Given the description of an element on the screen output the (x, y) to click on. 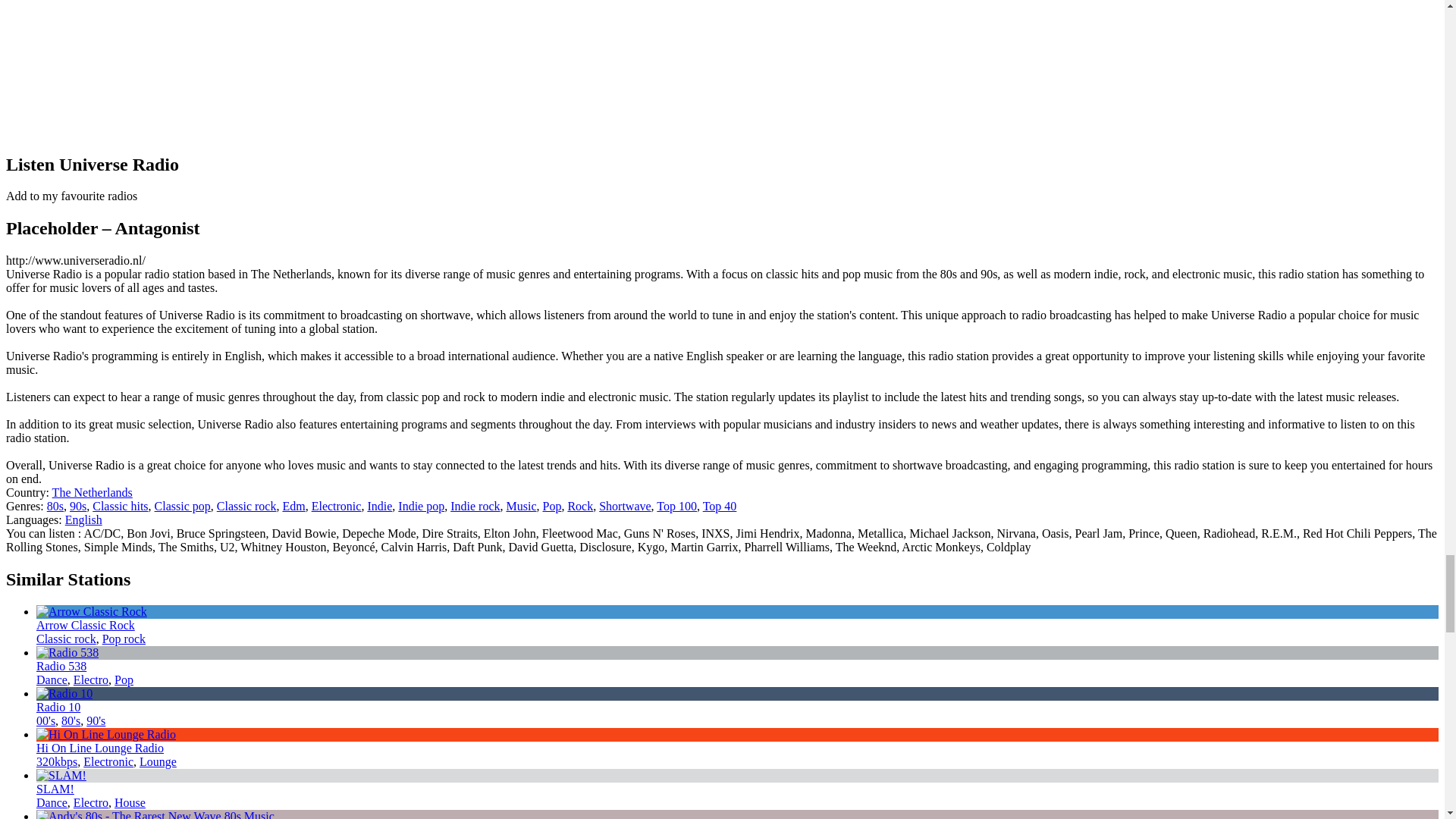
Indie rock (474, 505)
Radio 538 (60, 666)
Electronic (336, 505)
Hi On Line Lounge Radio (99, 748)
Rock (579, 505)
Music (520, 505)
80's (70, 720)
90s (77, 505)
Pop (550, 505)
Indie pop (420, 505)
Classic hits (120, 505)
Shortwave (624, 505)
Top 100 (676, 505)
Edm (293, 505)
Electro (90, 679)
